Given the description of an element on the screen output the (x, y) to click on. 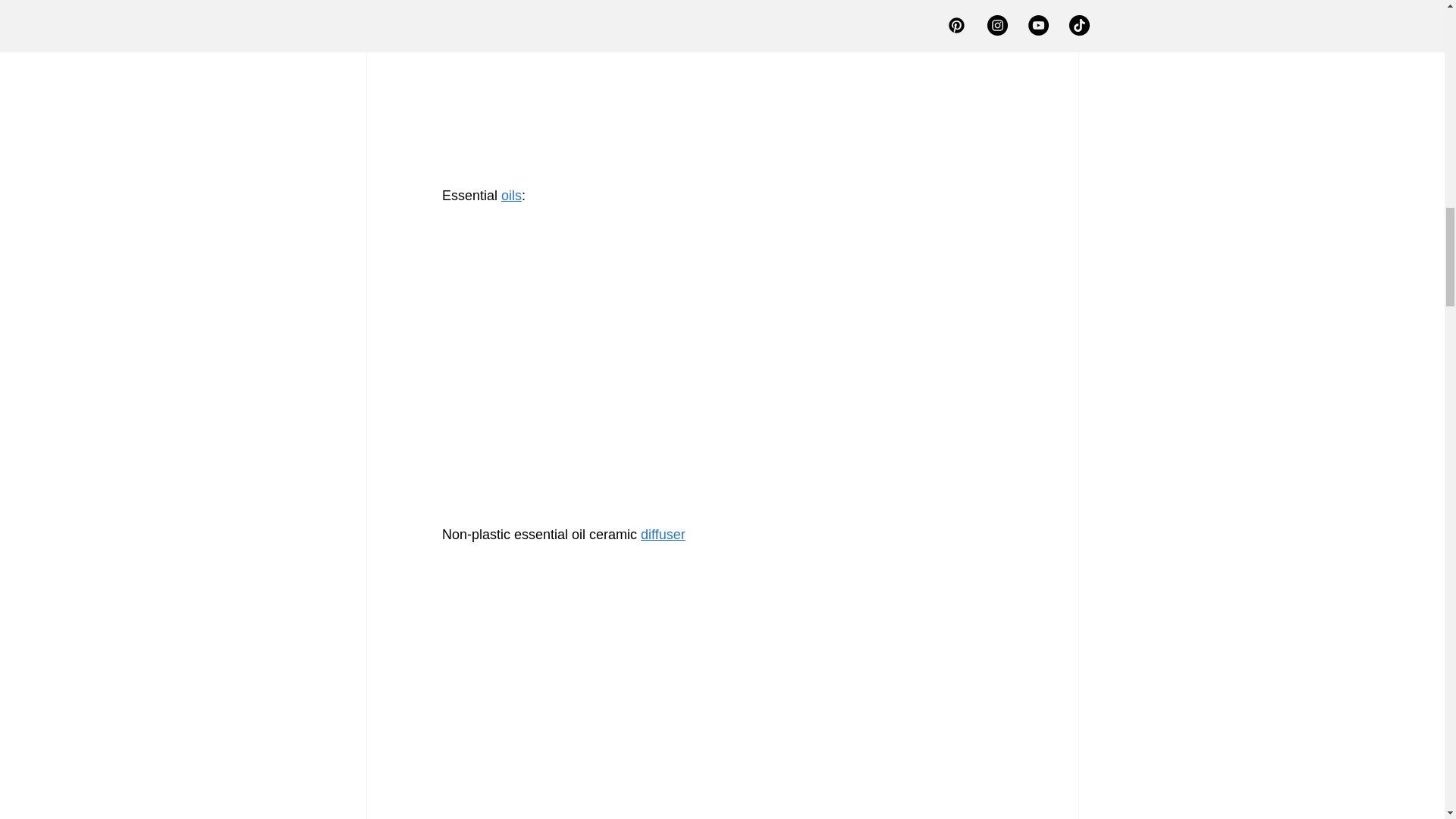
diffuser (662, 534)
oils (510, 195)
